Given the description of an element on the screen output the (x, y) to click on. 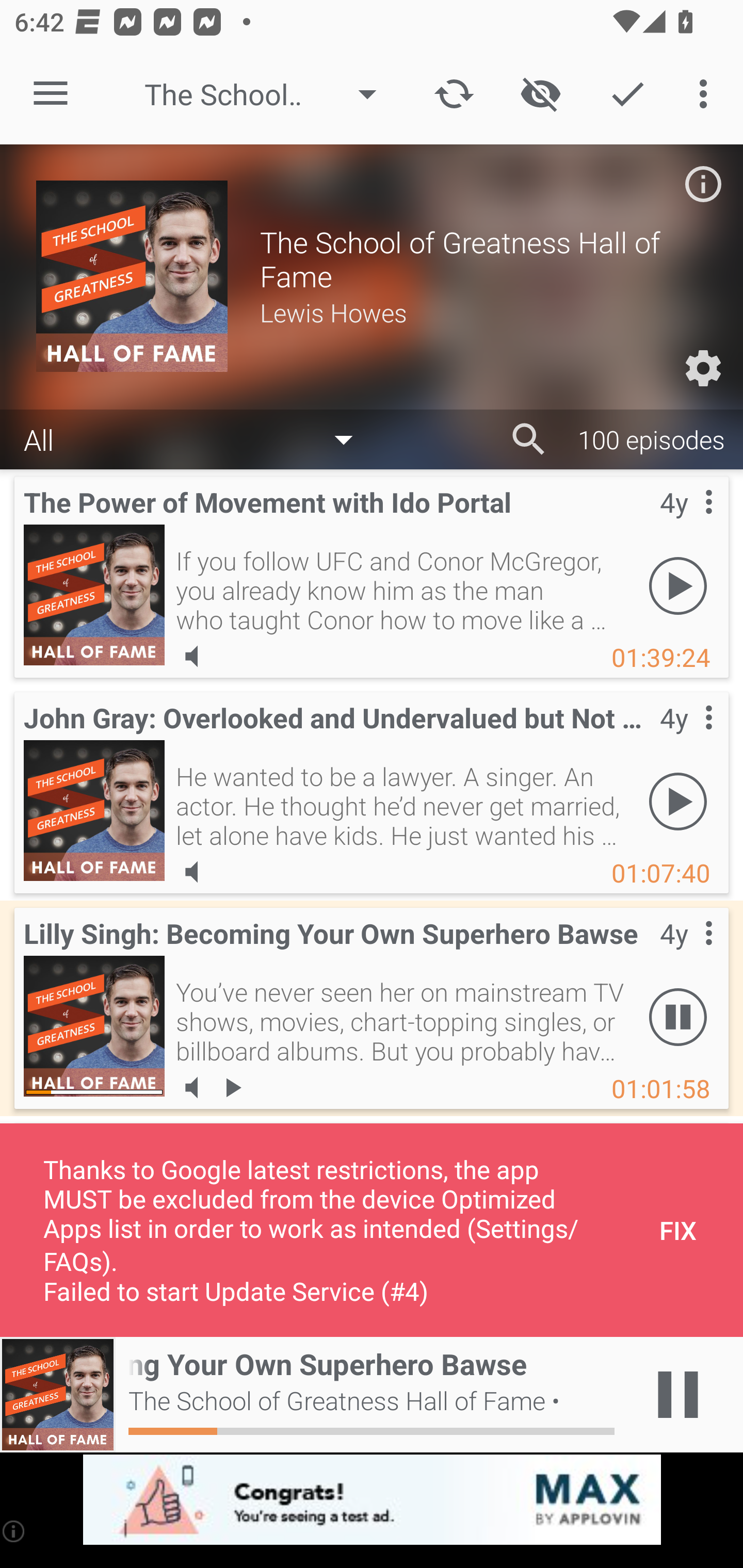
Open navigation sidebar (50, 93)
Update (453, 93)
Show / Hide played content (540, 93)
Action Mode (626, 93)
More options (706, 93)
The School of Greatness Hall of Fame (270, 94)
Podcast description (703, 184)
Lewis Howes (483, 311)
Custom Settings (703, 368)
Search (528, 439)
All (197, 438)
Contextual menu (685, 522)
The Power of Movement with Ido Portal (93, 594)
Play (677, 585)
Contextual menu (685, 738)
Play (677, 801)
Contextual menu (685, 954)
Lilly Singh: Becoming Your Own Superhero Bawse (93, 1026)
Pause (677, 1016)
FIX (677, 1229)
Play / Pause (677, 1394)
app-monetization (371, 1500)
(i) (14, 1531)
